Given the description of an element on the screen output the (x, y) to click on. 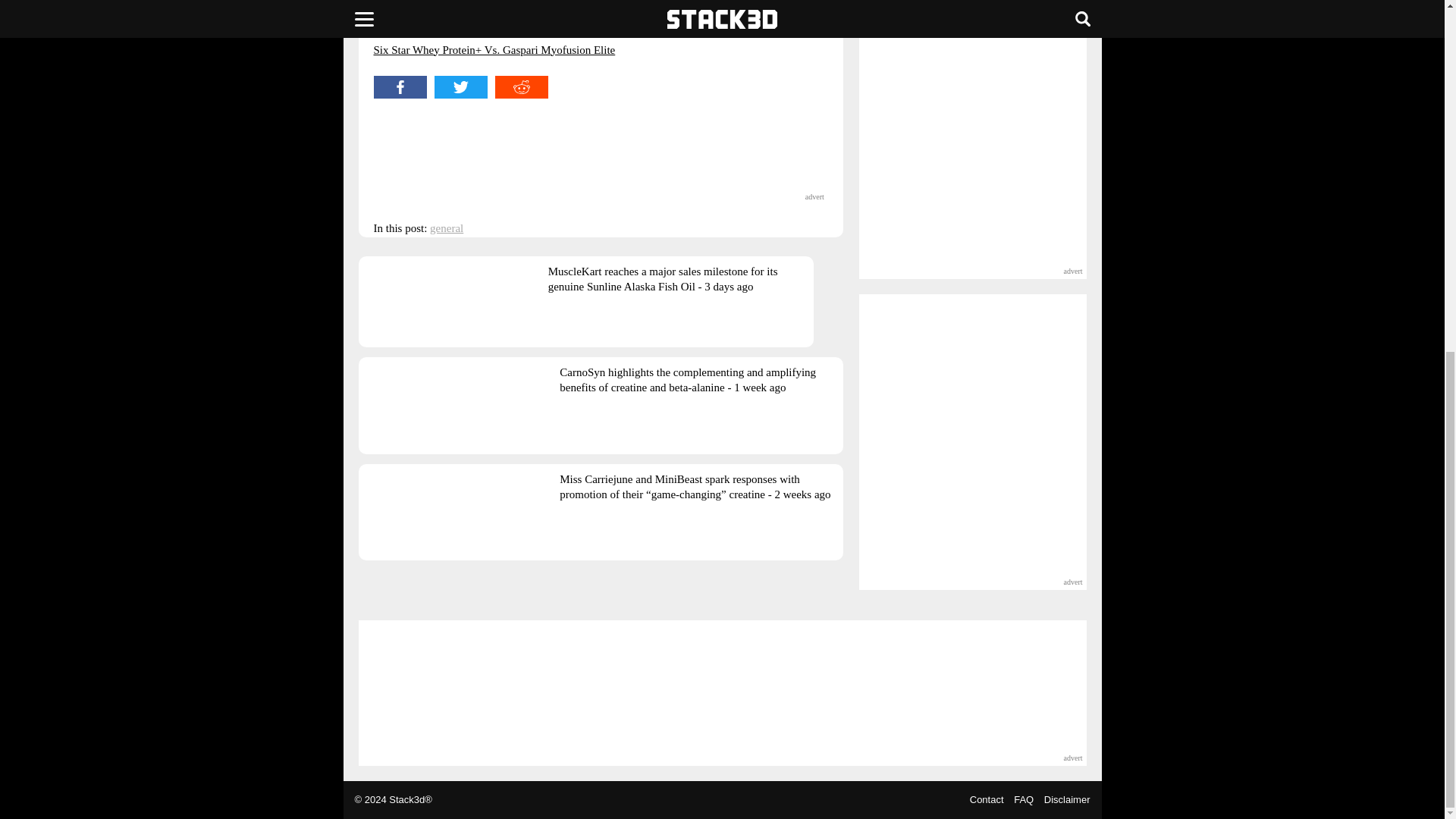
USP Labs OxyElite Vs. Cytosport Muscle Milk (480, 13)
